Given the description of an element on the screen output the (x, y) to click on. 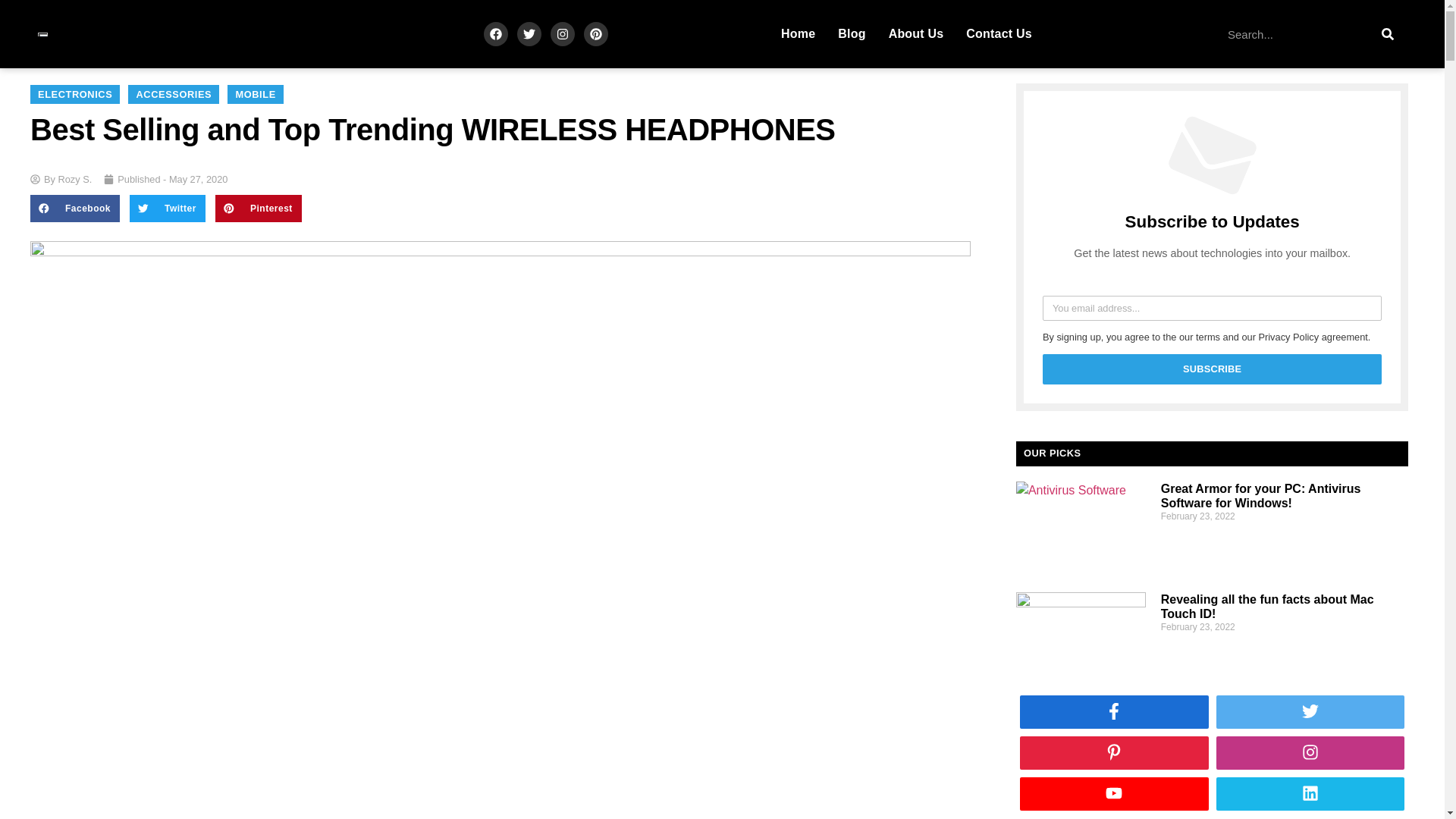
ELECTRONICS (74, 94)
Contact Us (998, 33)
MOBILE (254, 94)
By Rozy S. (60, 178)
About Us (915, 33)
ACCESSORIES (173, 94)
Home (797, 33)
